Given the description of an element on the screen output the (x, y) to click on. 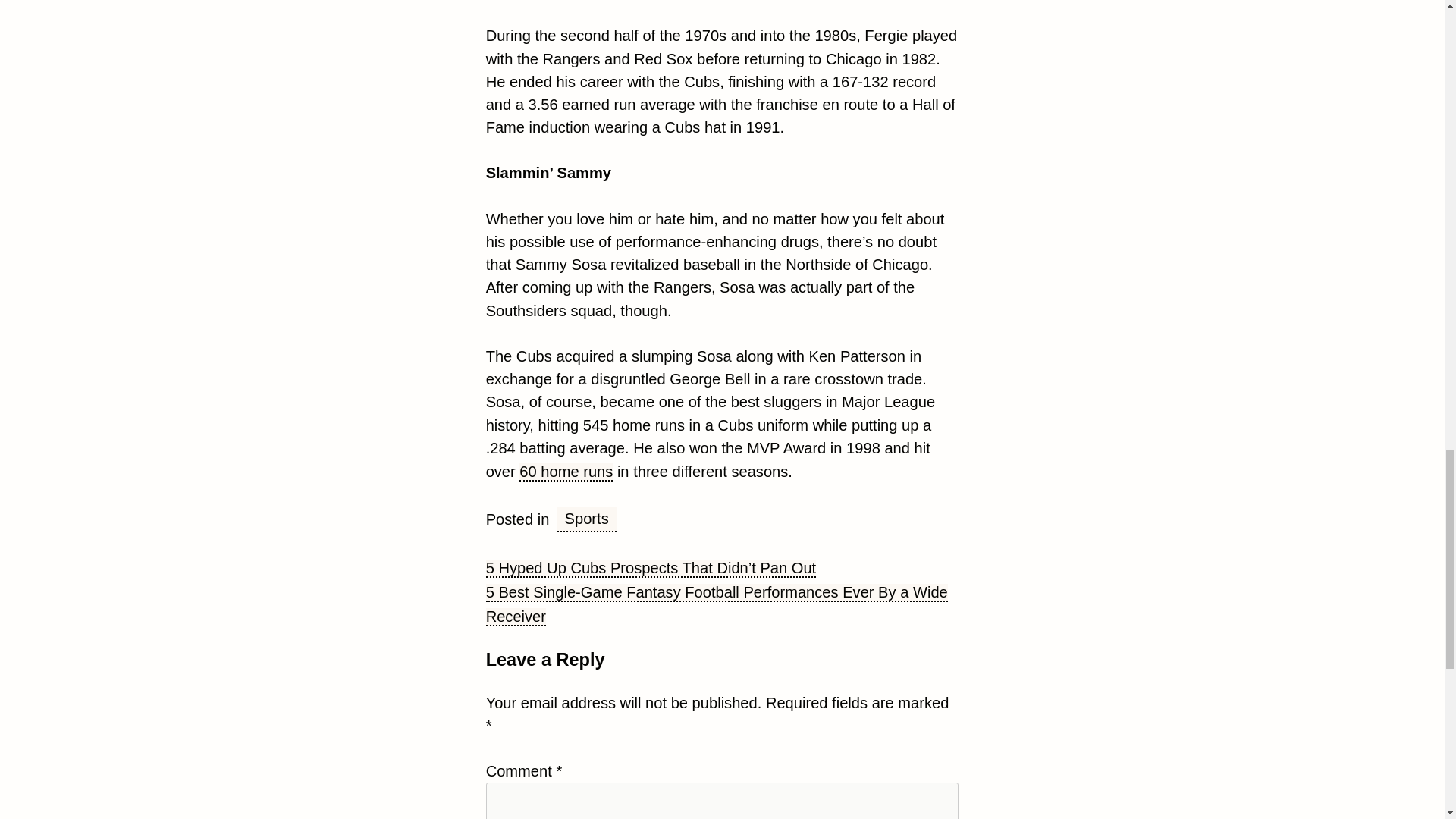
60 home runs (565, 472)
Sports (586, 519)
